Given the description of an element on the screen output the (x, y) to click on. 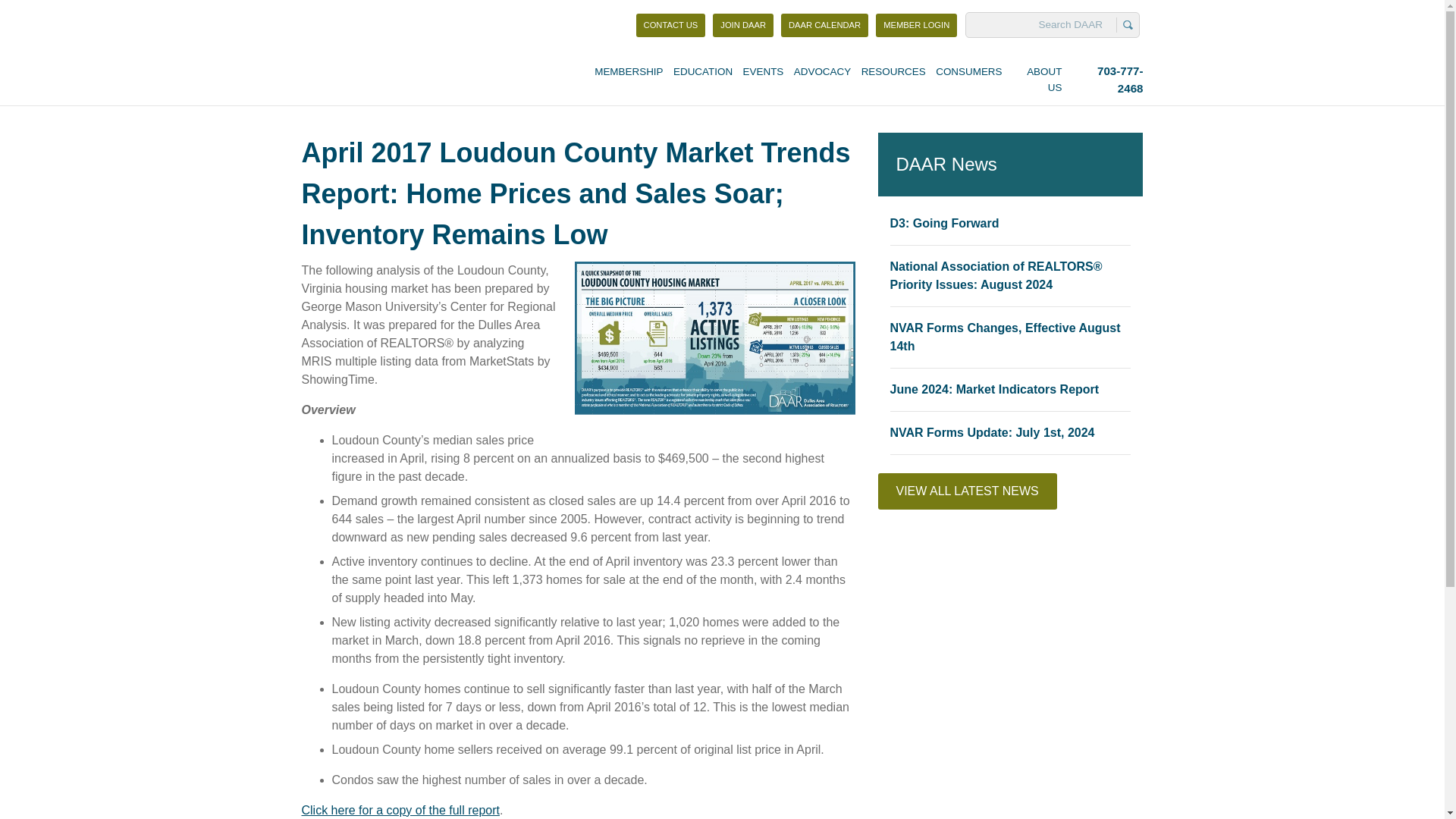
Search (1127, 24)
Search for: (1042, 24)
CONTACT US (671, 24)
DAAR CALENDAR (823, 24)
JOIN DAAR (916, 24)
